Given the description of an element on the screen output the (x, y) to click on. 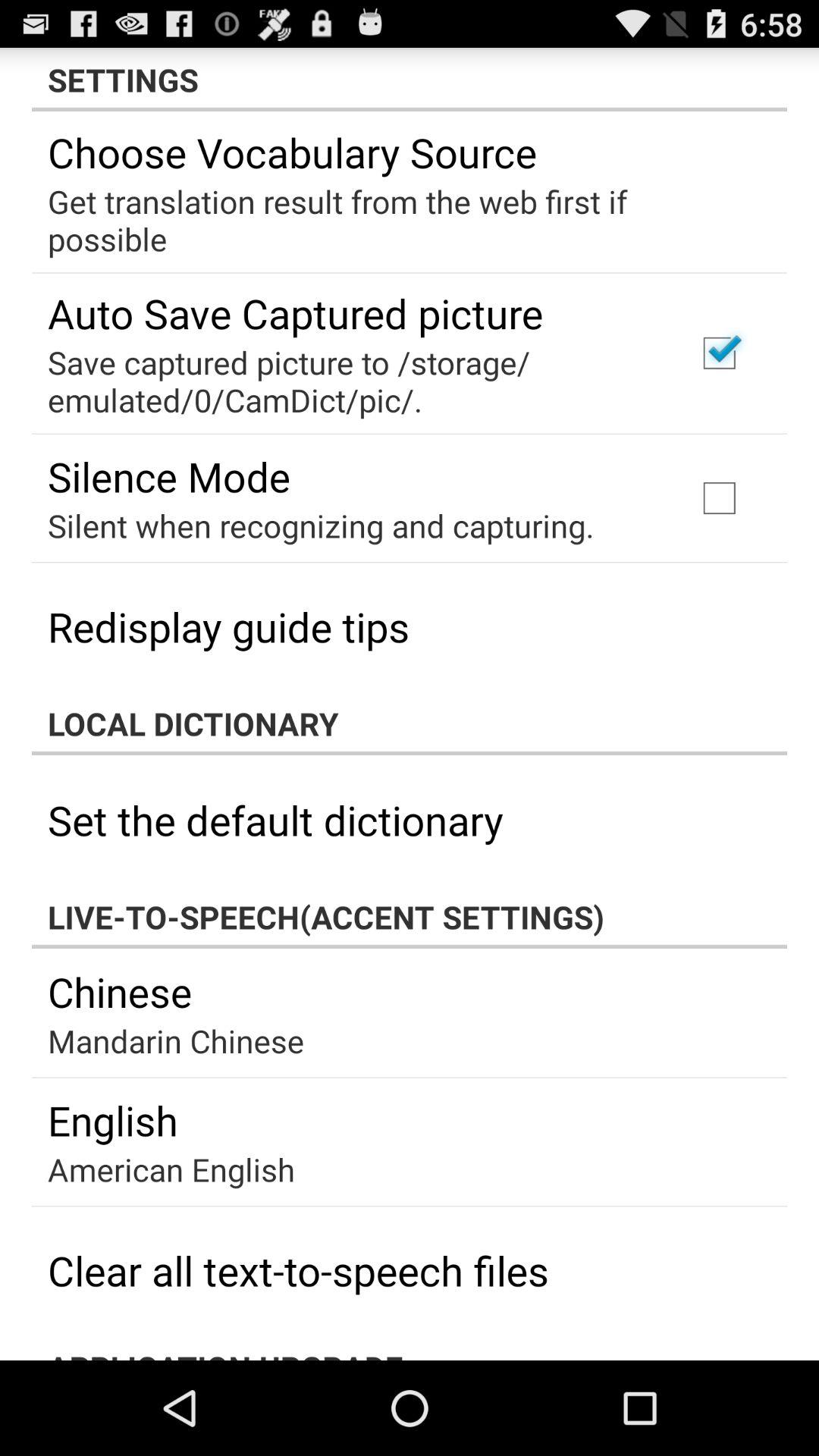
click the local dictionary app (409, 723)
